Given the description of an element on the screen output the (x, y) to click on. 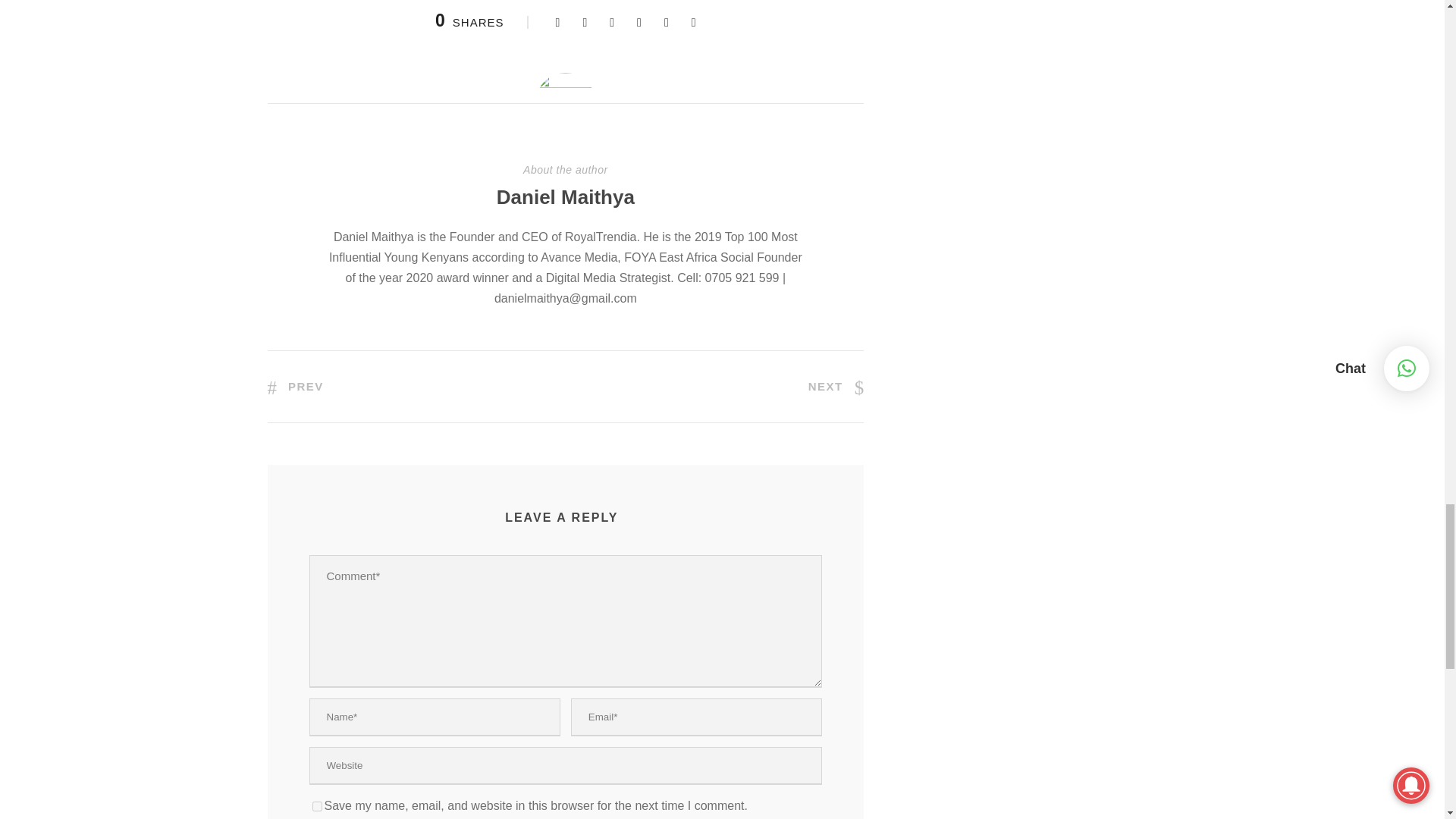
yes (317, 806)
